Given the description of an element on the screen output the (x, y) to click on. 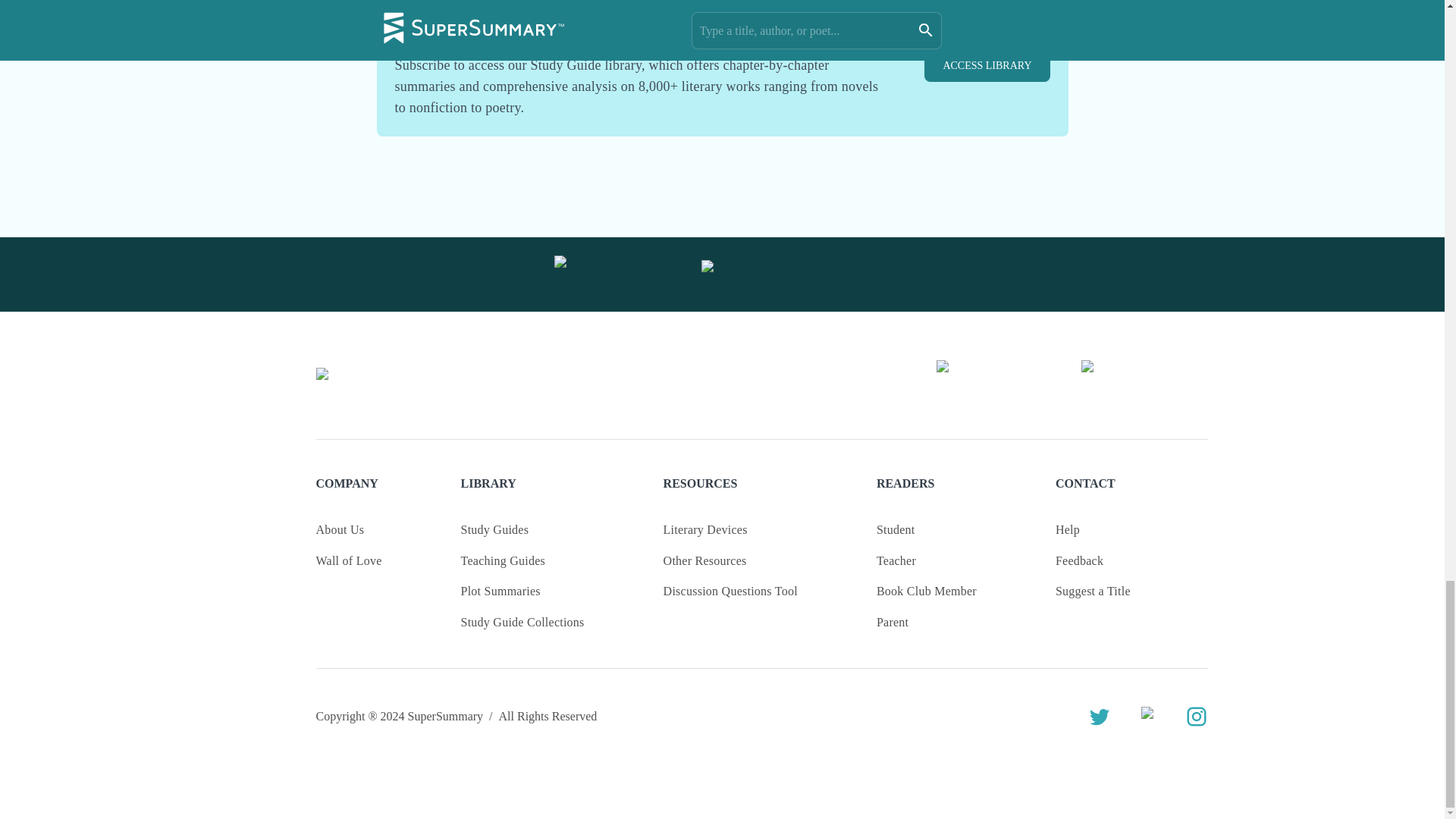
Literary Devices (705, 529)
Teaching Guides (502, 561)
Study Guides (495, 529)
Discussion Questions Tool (730, 591)
Teacher (895, 561)
ACCESS LIBRARY (986, 65)
Suggest a Title (1093, 591)
Study Guide Collections (523, 622)
About Us (339, 529)
Feedback (1079, 561)
